Given the description of an element on the screen output the (x, y) to click on. 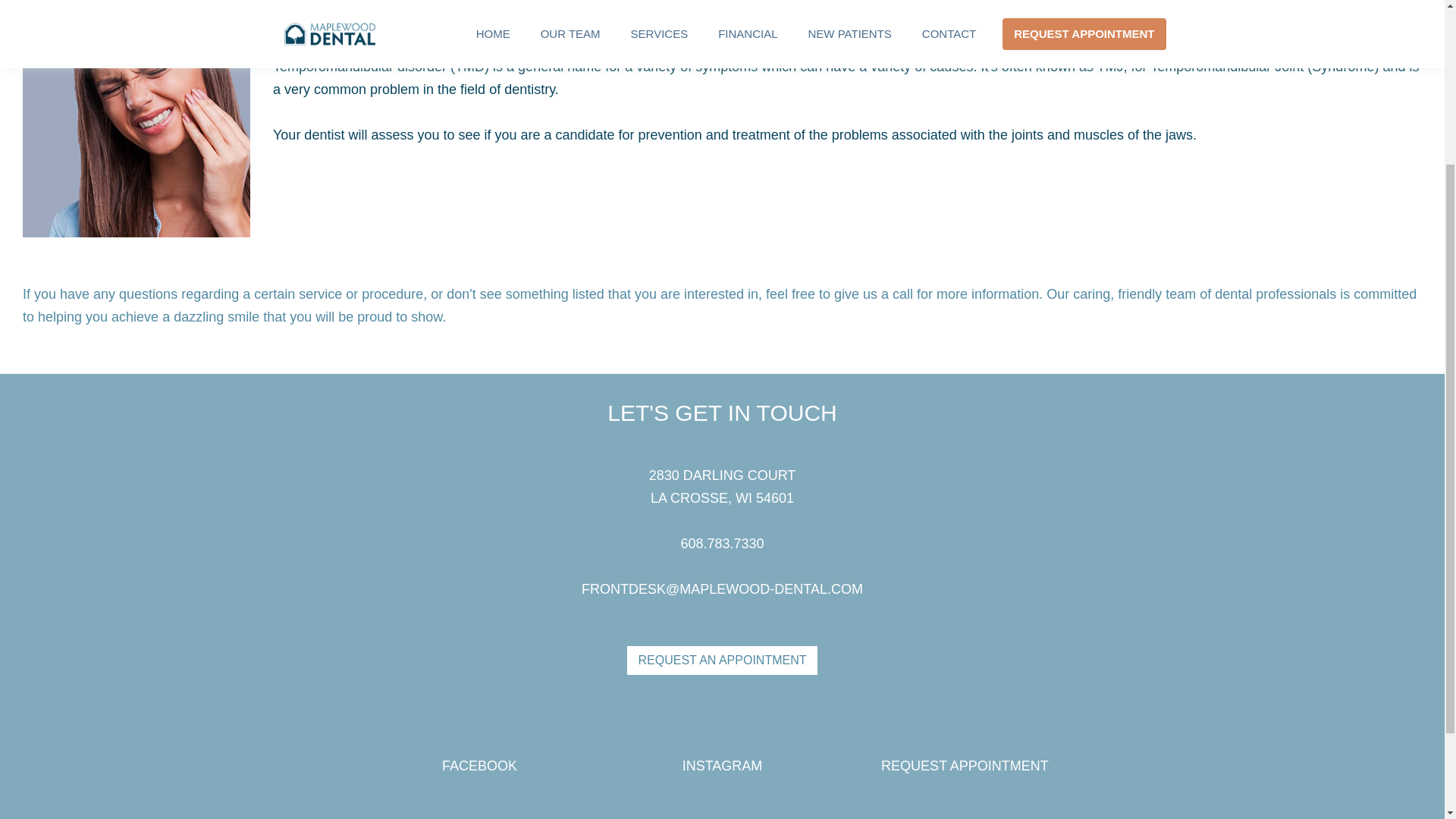
REQUEST APPOINTMENT (964, 765)
INSTAGRAM (722, 765)
REQUEST AN APPOINTMENT (722, 660)
608.783.7330 (720, 543)
FACEBOOK (479, 765)
